Given the description of an element on the screen output the (x, y) to click on. 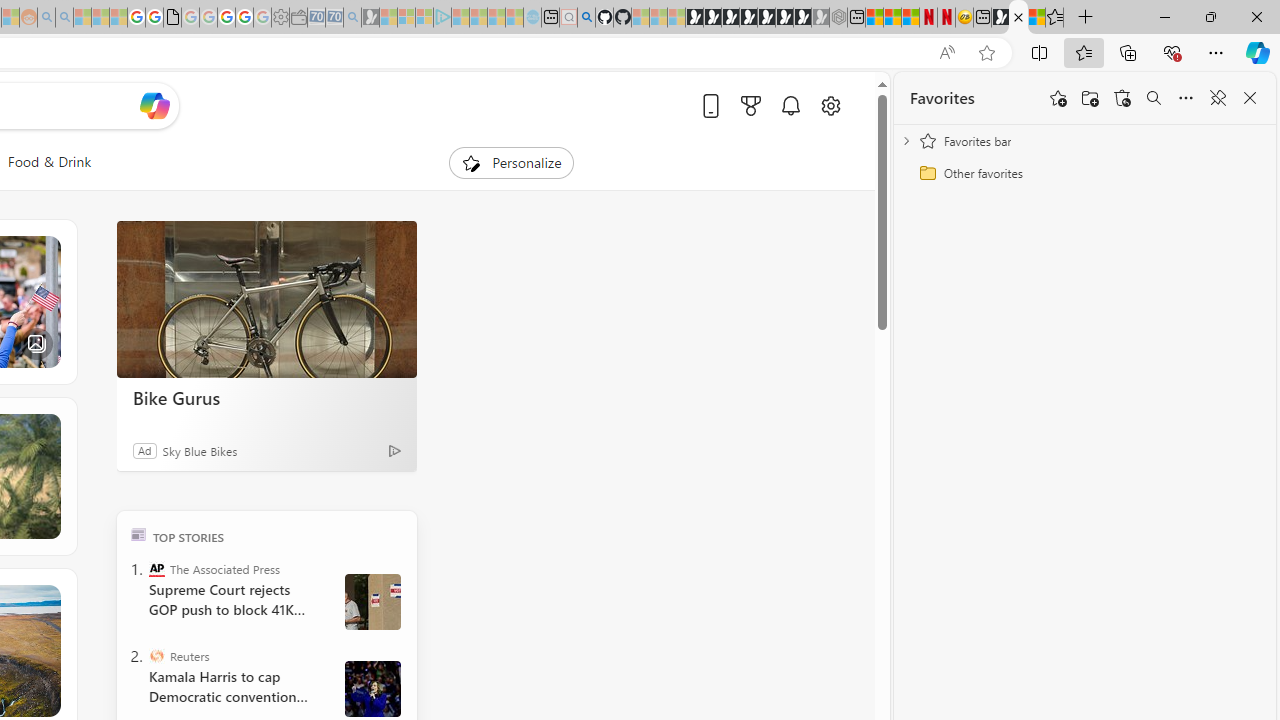
Bike Gurus (266, 299)
